Given the description of an element on the screen output the (x, y) to click on. 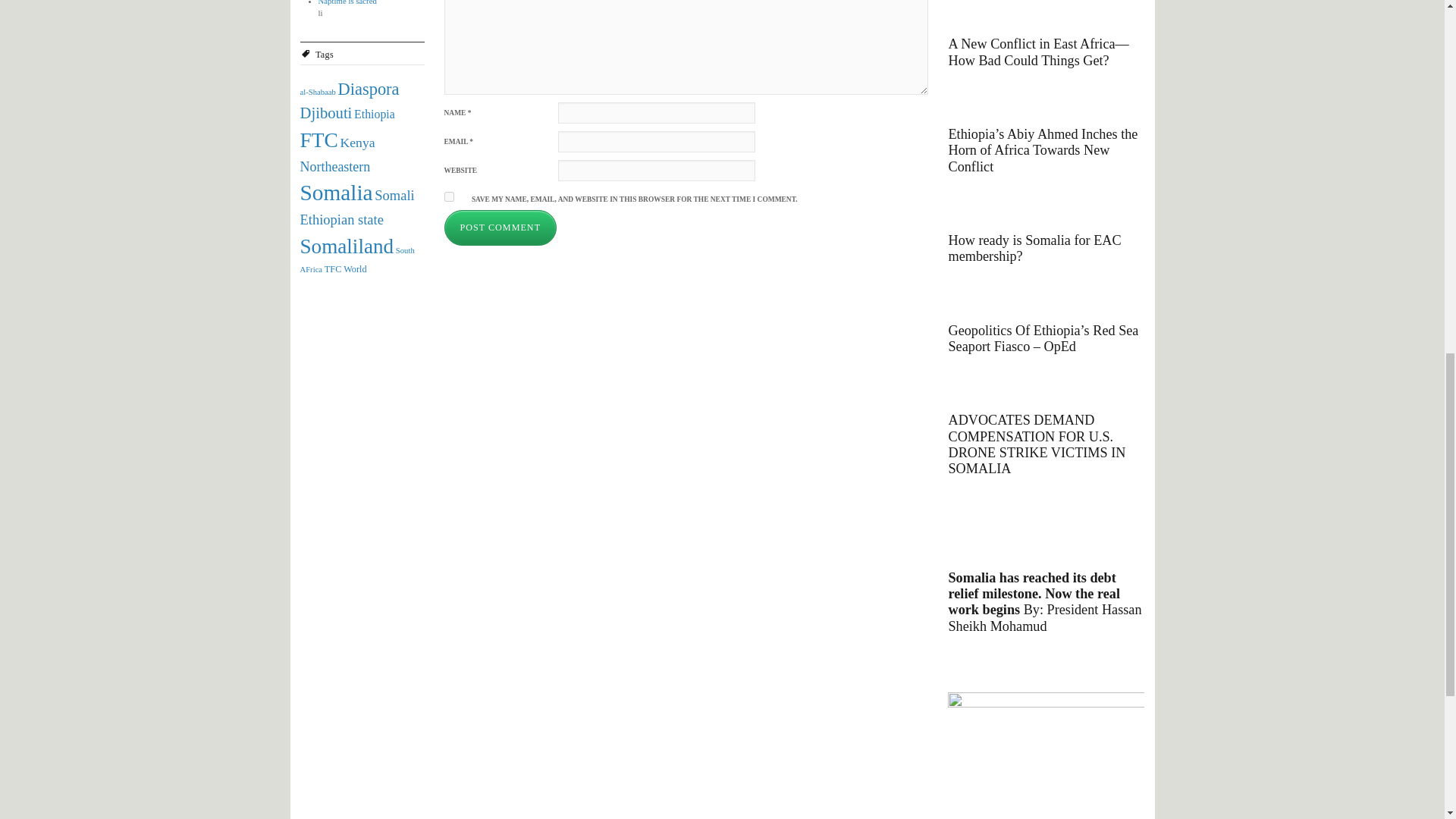
Ethiopia (373, 113)
Northeastern (335, 166)
TFC (333, 268)
Kenya (357, 142)
Post Comment (500, 227)
Djibouti (325, 112)
yes (449, 196)
Somali Ethiopian state (356, 207)
Naptime is sacred (347, 2)
South AFrica (356, 259)
Somaliland (346, 246)
Diaspora (367, 88)
al-Shabaab (317, 91)
FTC (318, 139)
World (354, 268)
